Given the description of an element on the screen output the (x, y) to click on. 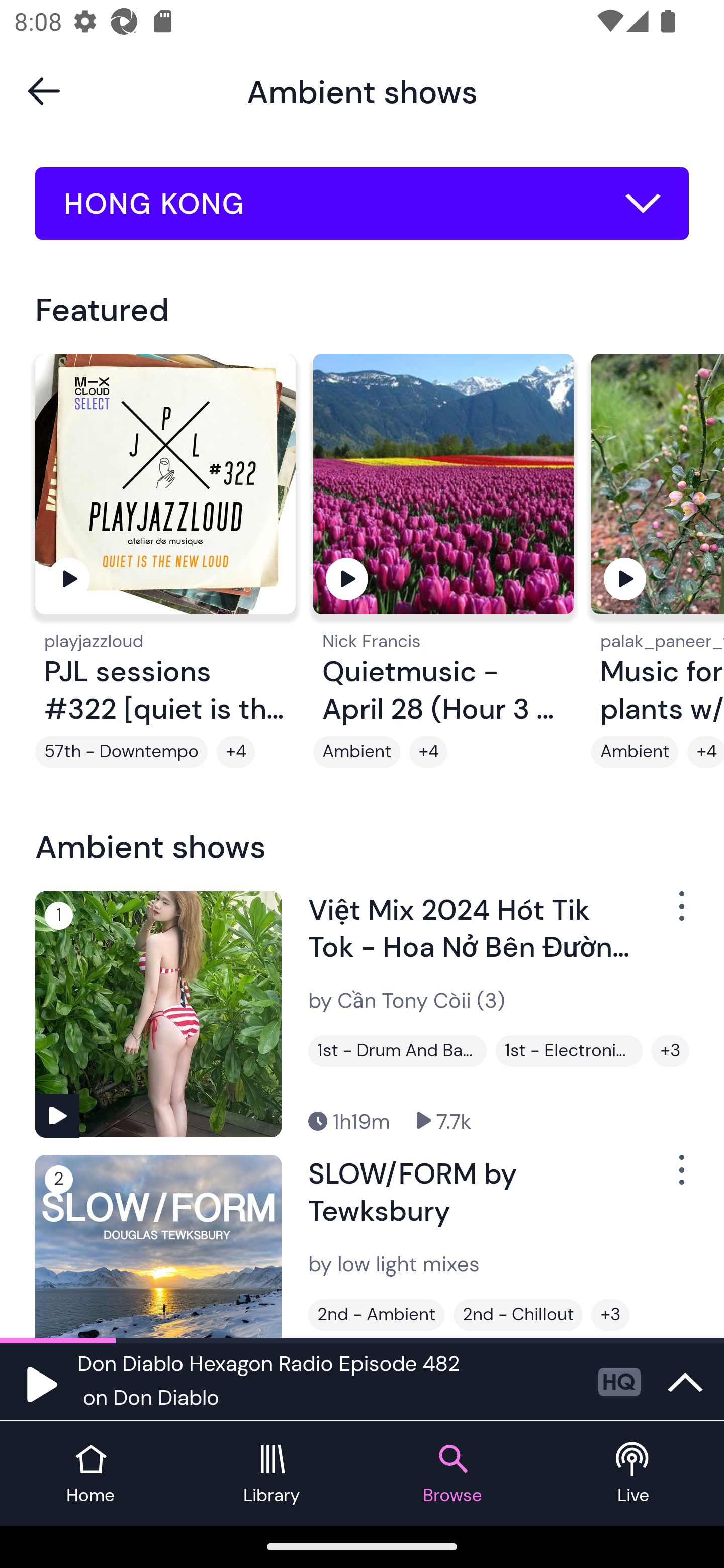
HONG KONG (361, 203)
57th - Downtempo (121, 752)
Ambient (356, 752)
Ambient (634, 752)
Show Options Menu Button (679, 913)
1st - Drum And Bass (397, 1050)
1st - Electronica (568, 1050)
Show Options Menu Button (679, 1178)
2nd - Ambient (376, 1315)
2nd - Chillout (517, 1315)
Home tab Home (90, 1473)
Library tab Library (271, 1473)
Browse tab Browse (452, 1473)
Live tab Live (633, 1473)
